Given the description of an element on the screen output the (x, y) to click on. 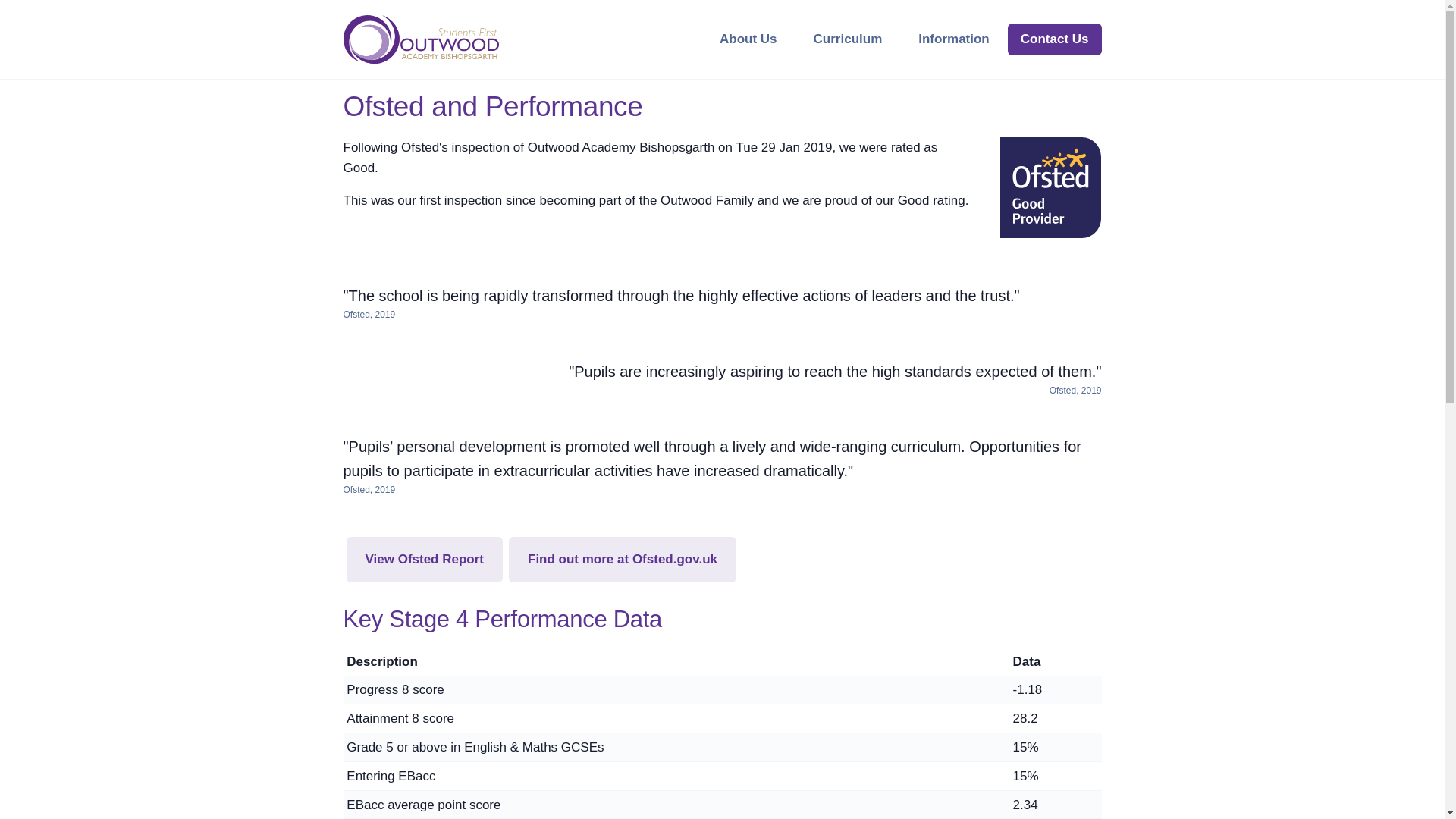
Information (953, 38)
Curriculum (847, 38)
About Us (747, 38)
